Given the description of an element on the screen output the (x, y) to click on. 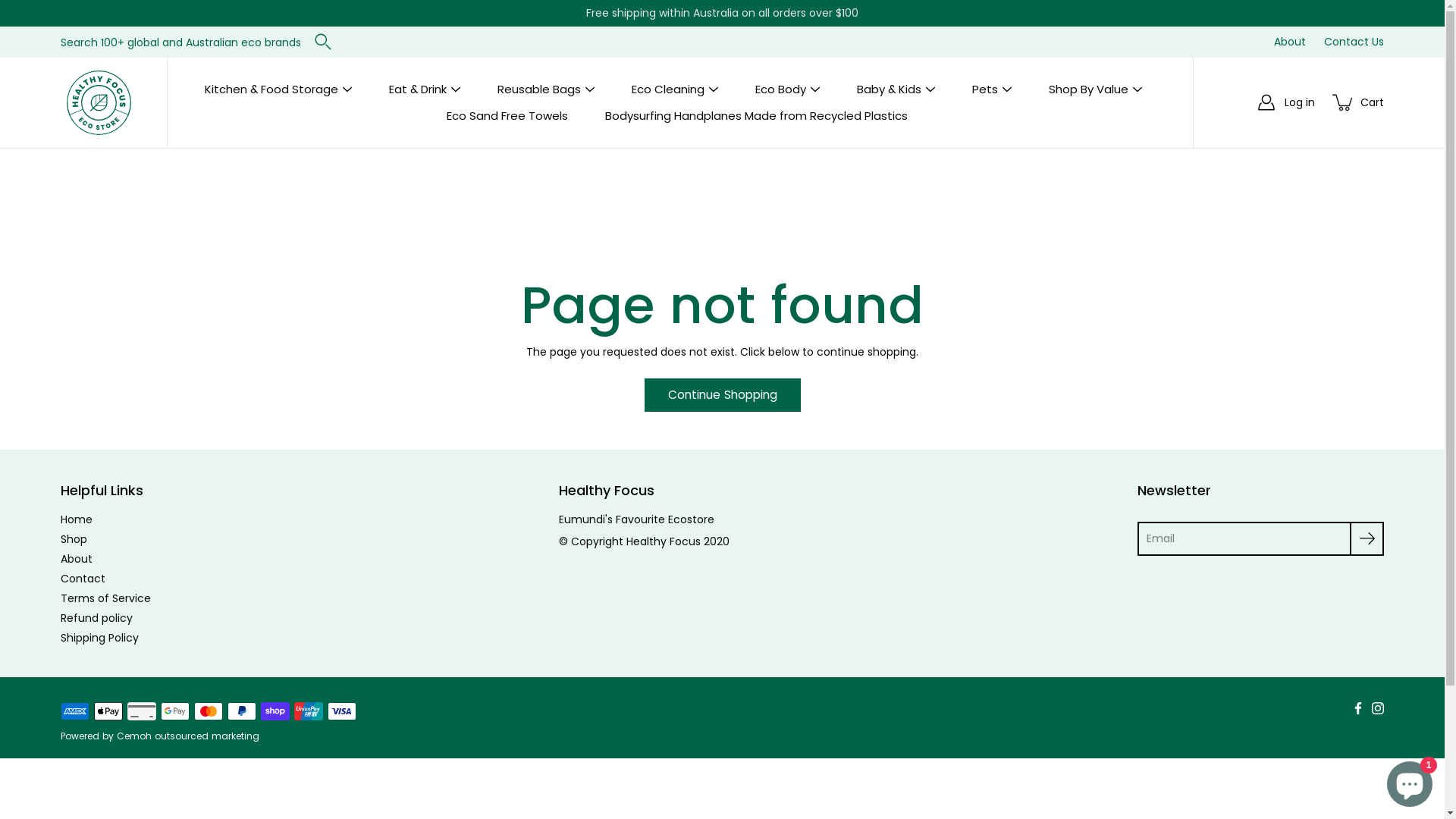
Home Element type: text (76, 519)
Baby & Kids Element type: text (888, 88)
outsourced marketing Element type: text (206, 735)
Reusable Bags Element type: text (538, 88)
Bodysurfing Handplanes Made from Recycled Plastics Element type: text (756, 115)
Refund policy Element type: text (96, 617)
Eco Sand Free Towels Element type: text (506, 115)
Continue Shopping Element type: text (722, 394)
Cart Element type: text (1371, 102)
Shipping Policy Element type: text (99, 637)
Eco Cleaning Element type: text (667, 88)
Eco Body Element type: text (780, 88)
Contact Element type: text (82, 578)
About Element type: text (1281, 41)
Log in Element type: text (1299, 102)
About Element type: text (76, 558)
Facebook Element type: text (1358, 708)
Eat & Drink Element type: text (417, 88)
Pets Element type: text (984, 88)
Instagram Element type: text (1377, 708)
Terms of Service Element type: text (105, 597)
Shop By Value Element type: text (1088, 88)
Shopify online store chat Element type: hover (1409, 780)
Shop Element type: text (73, 538)
Contact Us Element type: text (1345, 41)
Kitchen & Food Storage Element type: text (271, 88)
